Given the description of an element on the screen output the (x, y) to click on. 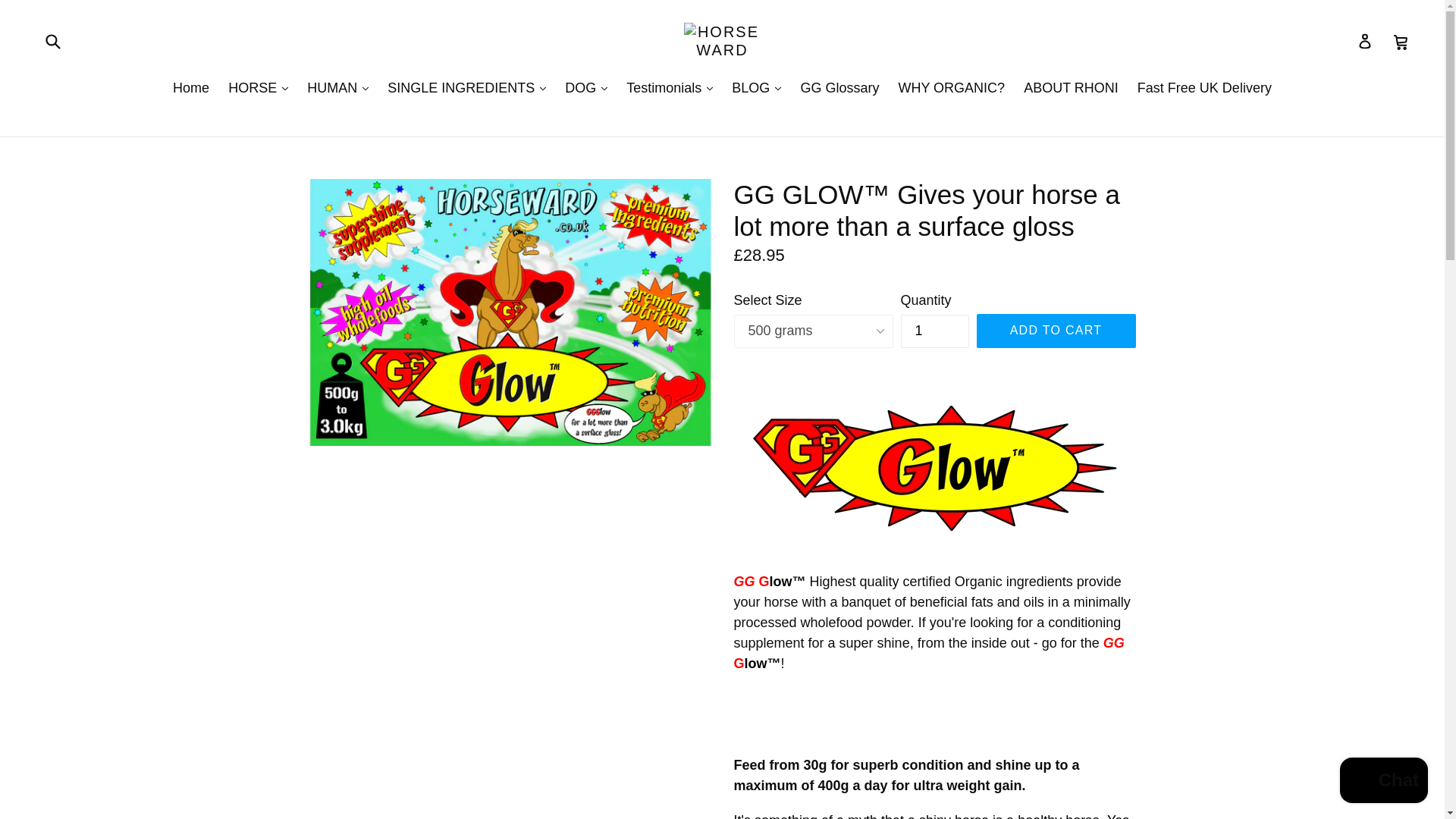
Shopify online store chat (1383, 781)
1 (935, 331)
